Given the description of an element on the screen output the (x, y) to click on. 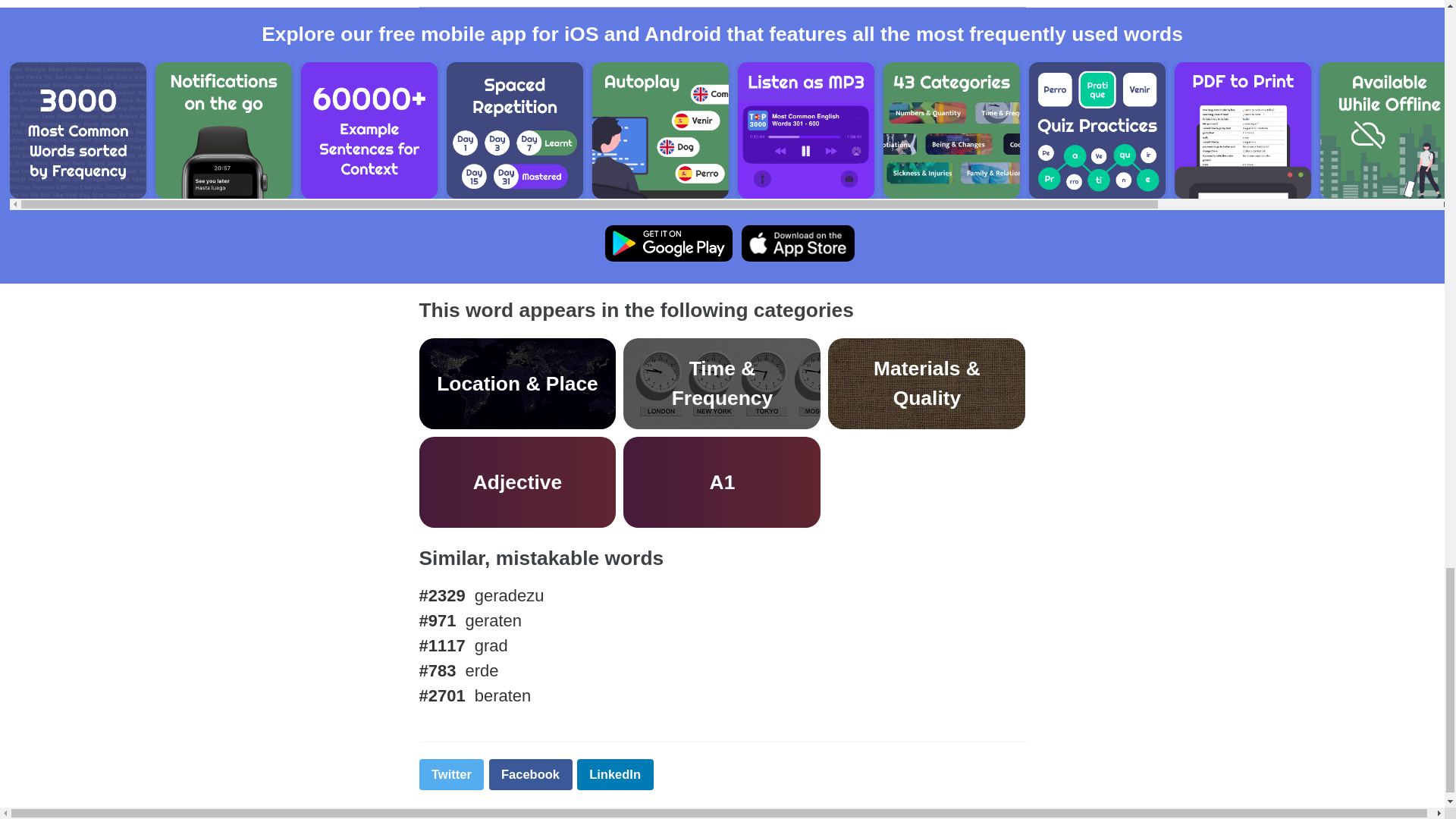
Share on Facebook (529, 774)
Share on Twitter (451, 774)
Share on LinkedIn (614, 774)
